Given the description of an element on the screen output the (x, y) to click on. 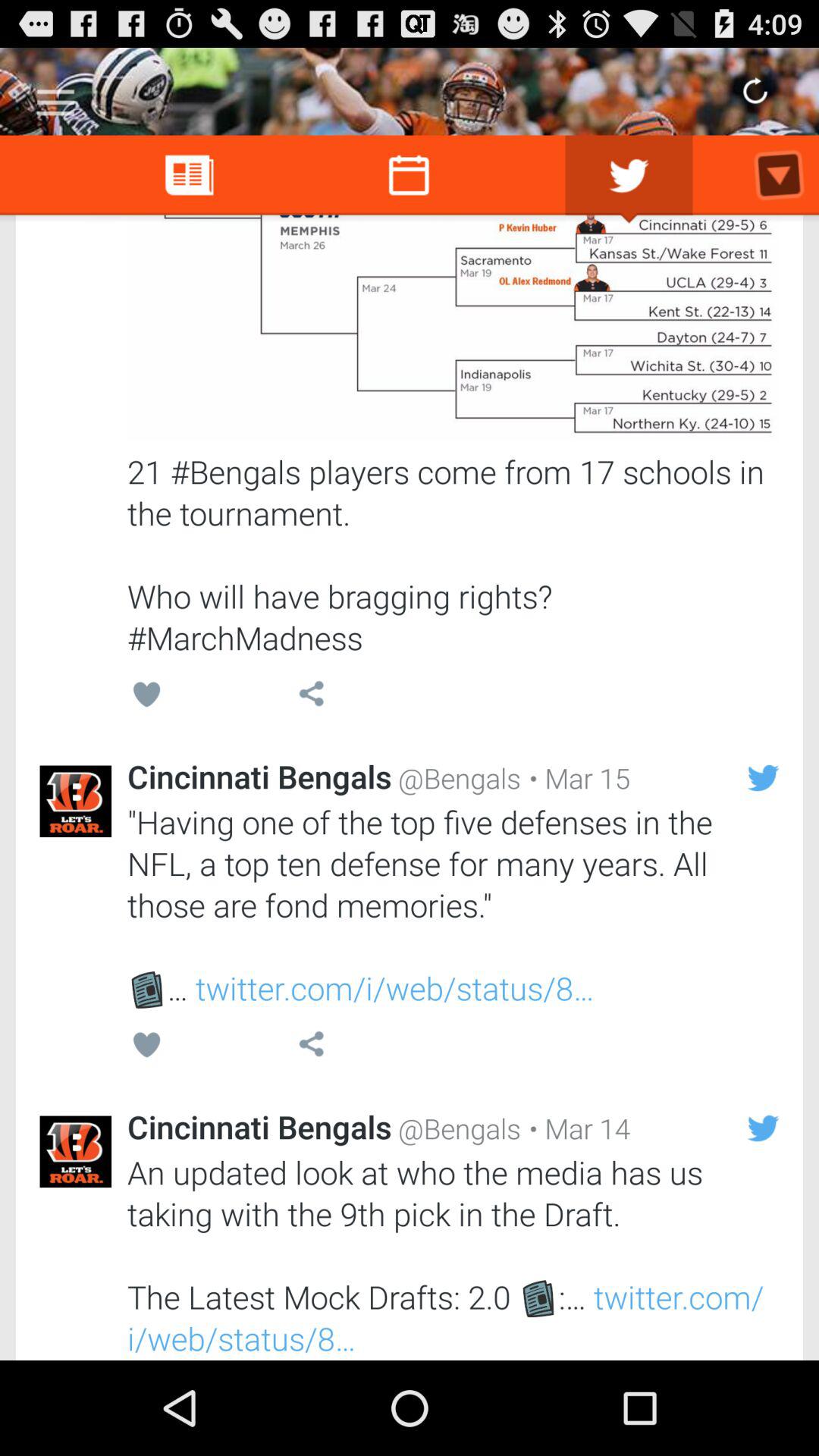
open icon below cincinnati bengals item (453, 1254)
